Given the description of an element on the screen output the (x, y) to click on. 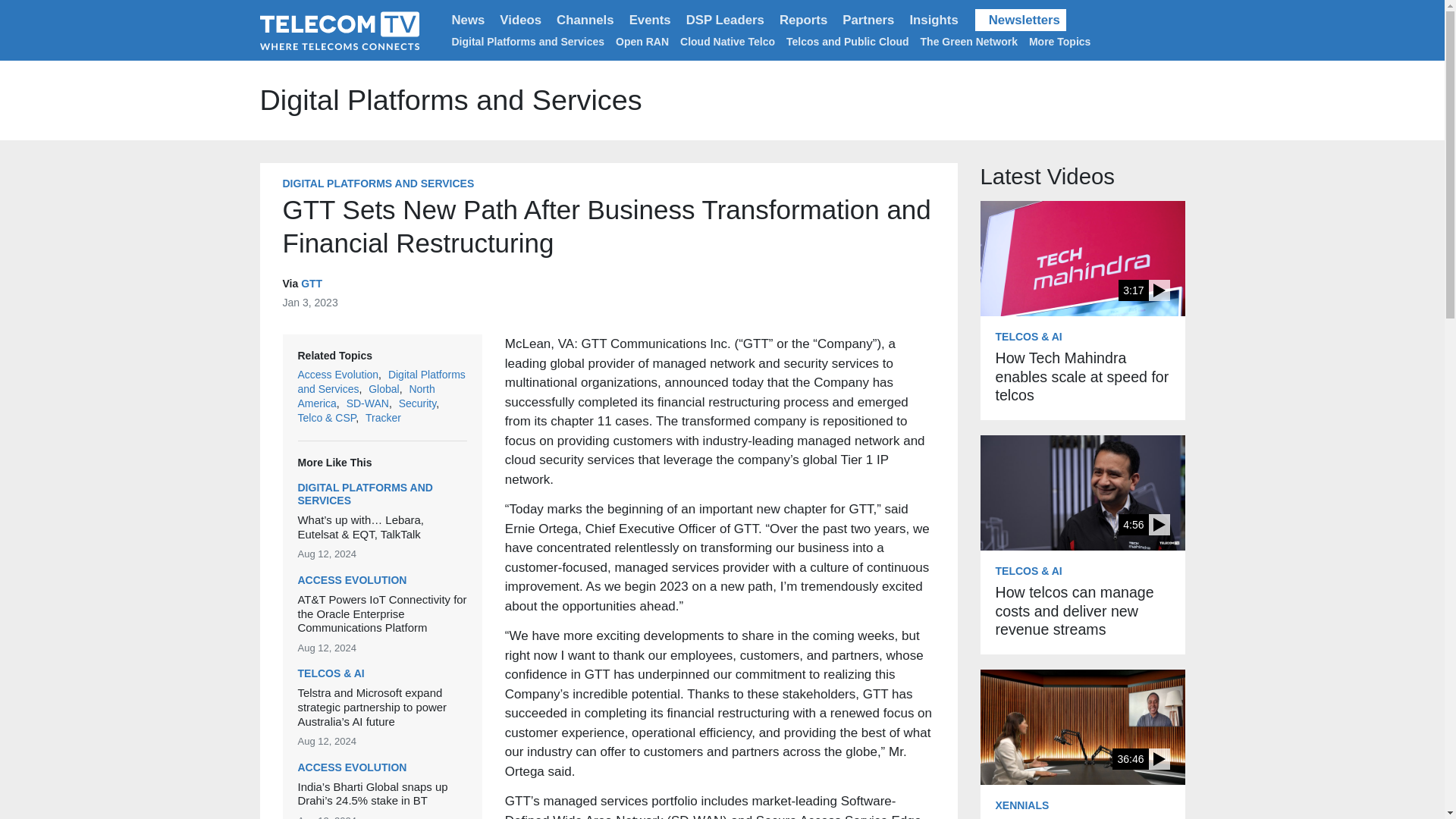
The Green Network (968, 41)
Events (650, 20)
Partners (867, 20)
DSP Leaders (724, 20)
Reports (802, 20)
Channels (585, 20)
Newsletters (1020, 20)
Cloud Native Telco (726, 41)
Telcos and Public Cloud (847, 41)
News (468, 20)
